Given the description of an element on the screen output the (x, y) to click on. 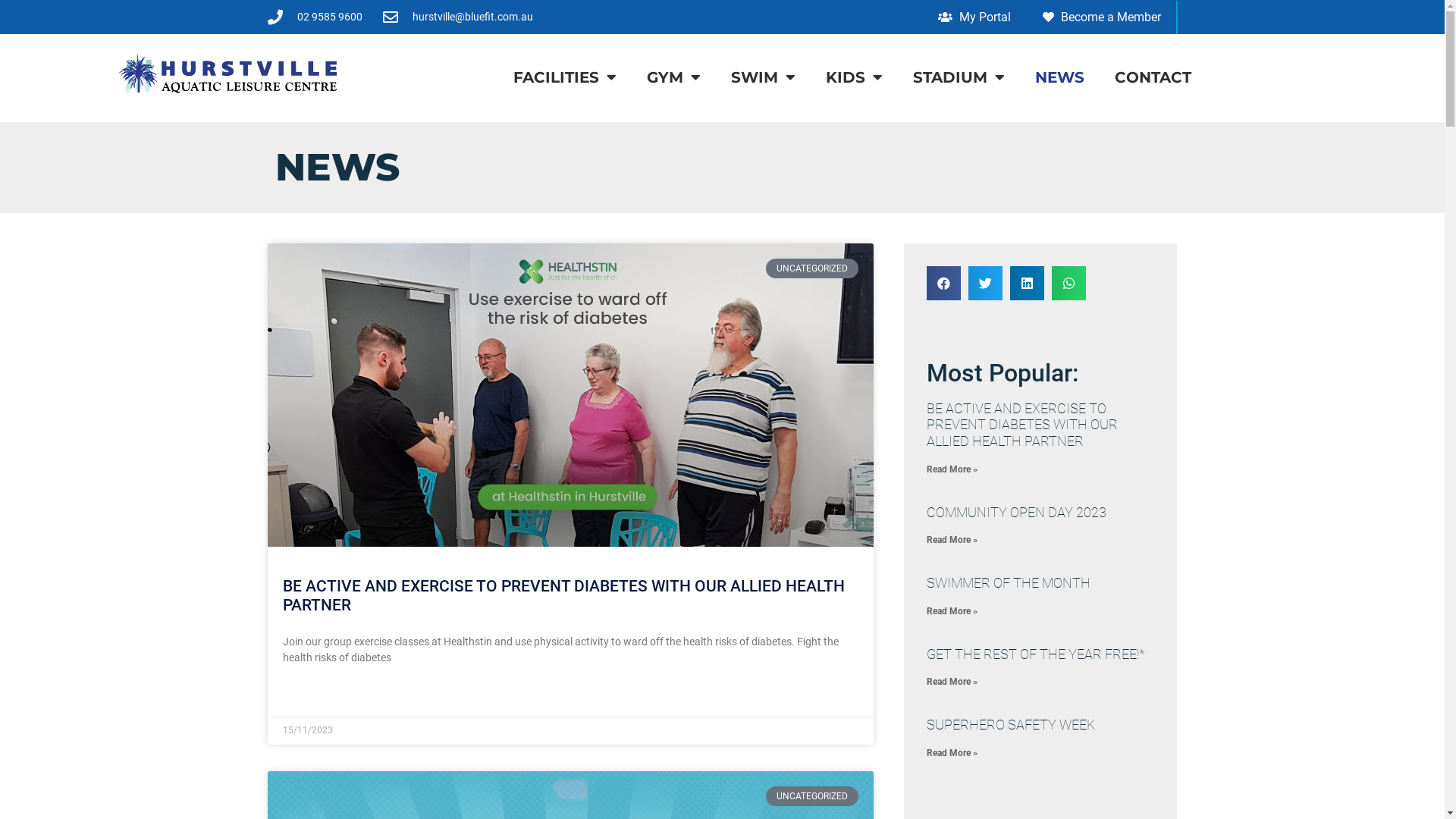
Become a Member Element type: text (1100, 16)
KIDS Element type: text (854, 77)
STADIUM Element type: text (958, 77)
NEWS Element type: text (1059, 77)
hurstville@bluefit.com.au Element type: text (457, 17)
FACILITIES Element type: text (564, 77)
COMMUNITY OPEN DAY 2023 Element type: text (1016, 512)
My Portal Element type: text (973, 16)
GET THE REST OF THE YEAR FREE!* Element type: text (1035, 654)
CONTACT Element type: text (1152, 77)
SWIMMER OF THE MONTH Element type: text (1008, 582)
SUPERHERO SAFETY WEEK Element type: text (1010, 724)
02 9585 9600 Element type: text (313, 17)
SWIM Element type: text (763, 77)
GYM Element type: text (673, 77)
